Given the description of an element on the screen output the (x, y) to click on. 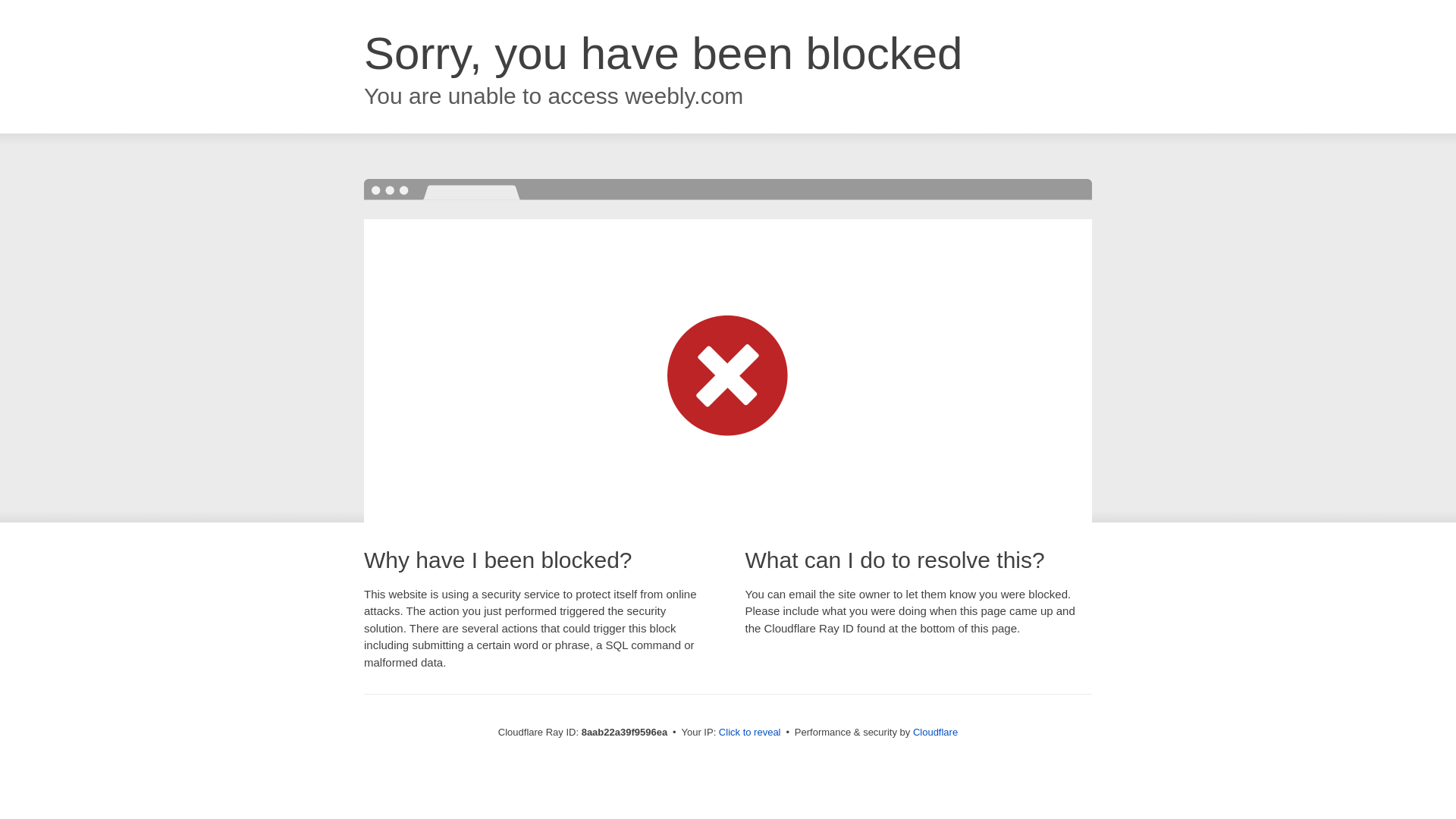
Click to reveal (749, 732)
Cloudflare (935, 731)
